Given the description of an element on the screen output the (x, y) to click on. 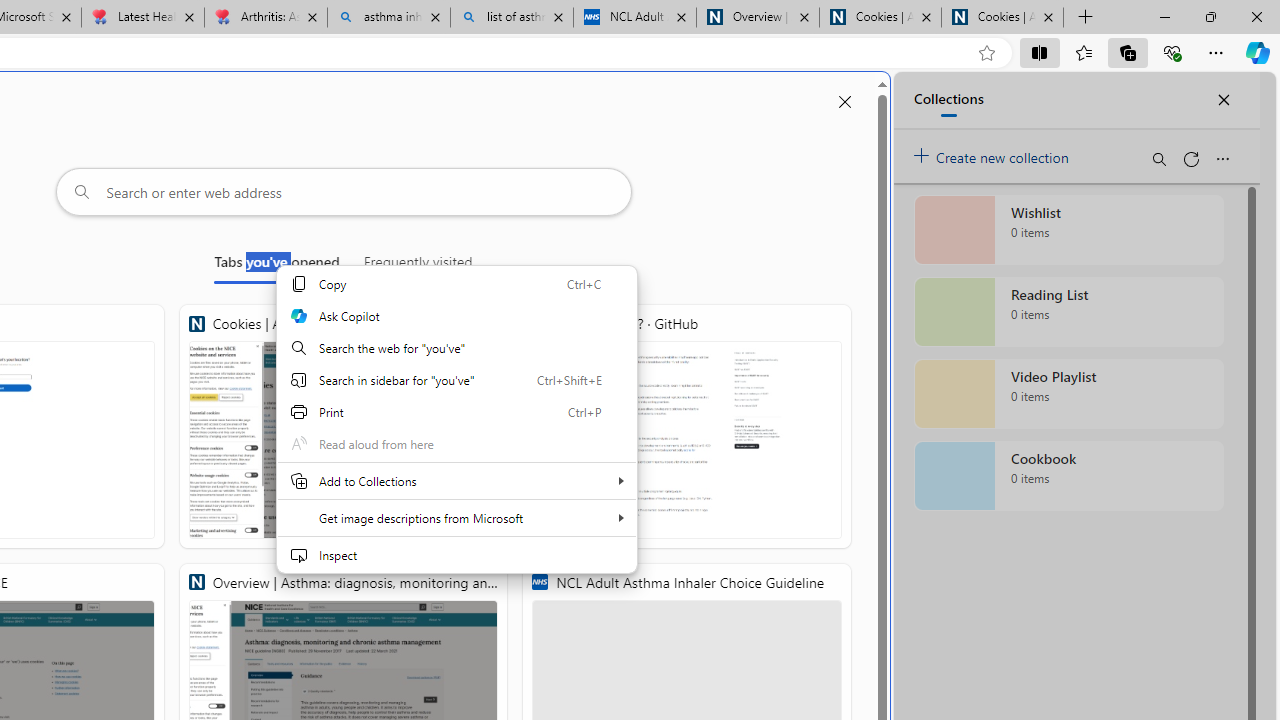
list of asthma inhalers uk - Search (511, 17)
NCL Adult Asthma Inhaler Choice Guideline (634, 17)
Search the web for "you've" (456, 347)
Tabs you've opened (276, 265)
Cookies | About | NICE (343, 426)
Arthritis: Ask Health Professionals (265, 17)
Search in sidebar for "you've" (456, 380)
Ask Copilot (456, 315)
Web context (456, 431)
Frequently visited (418, 265)
